Given the description of an element on the screen output the (x, y) to click on. 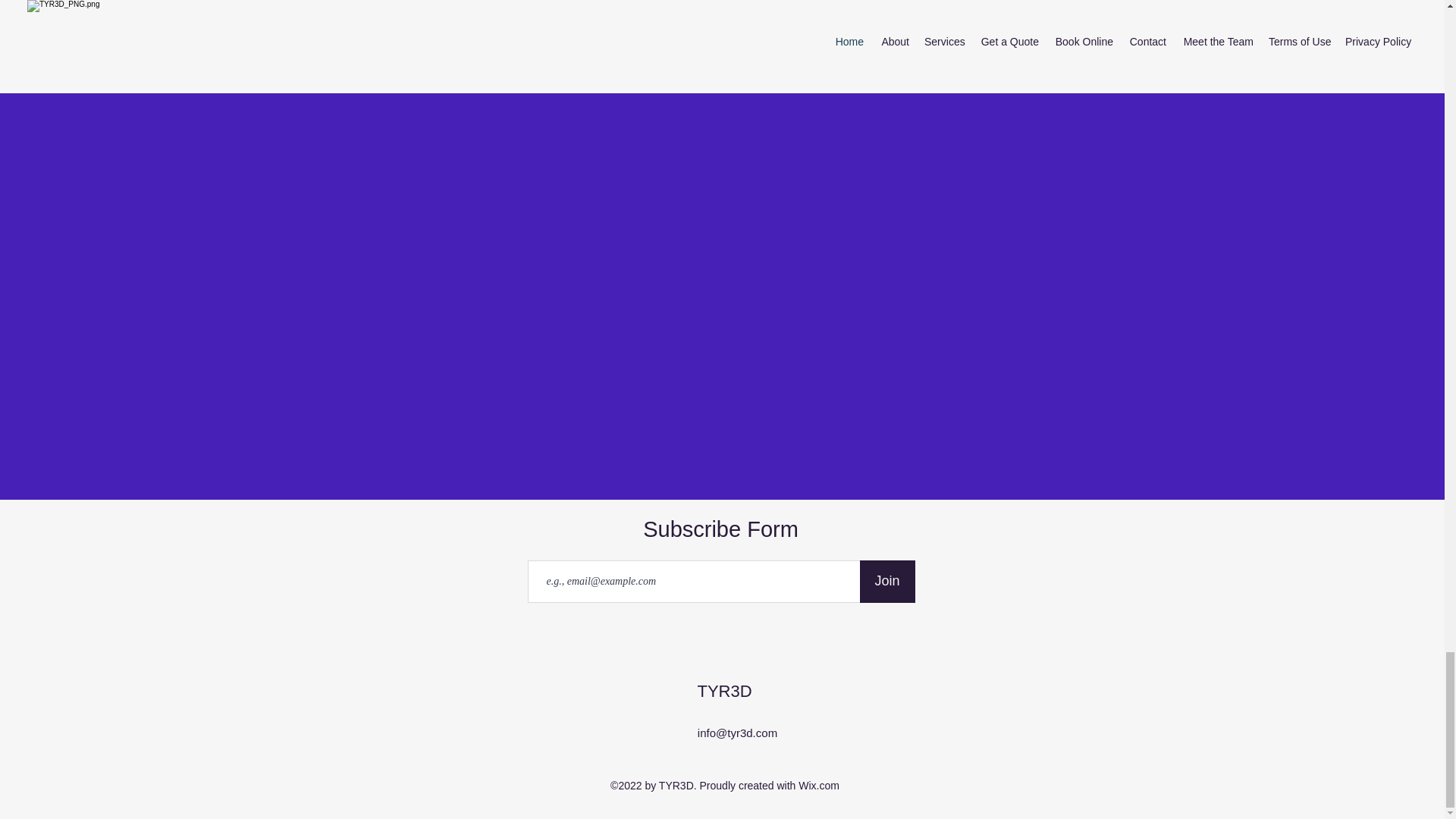
Submit (721, 30)
Join (887, 581)
